Given the description of an element on the screen output the (x, y) to click on. 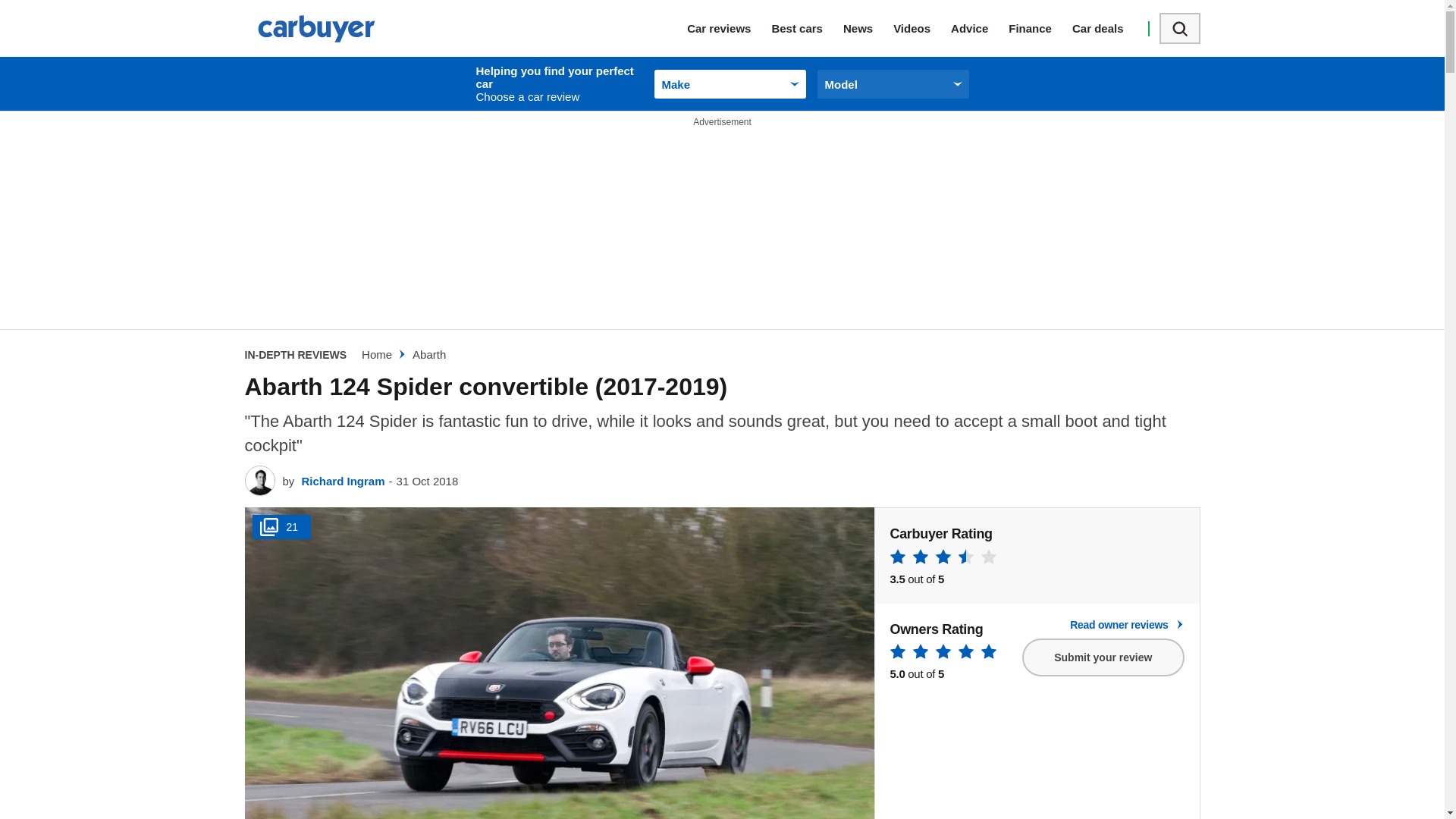
Leave your review (1102, 657)
Finance (1040, 27)
Home (376, 354)
Advice (979, 27)
Read owner reviews (1102, 624)
Submit your review (1102, 657)
Car deals (1107, 27)
5 Stars (942, 654)
Best cars (807, 27)
Videos (921, 27)
